Given the description of an element on the screen output the (x, y) to click on. 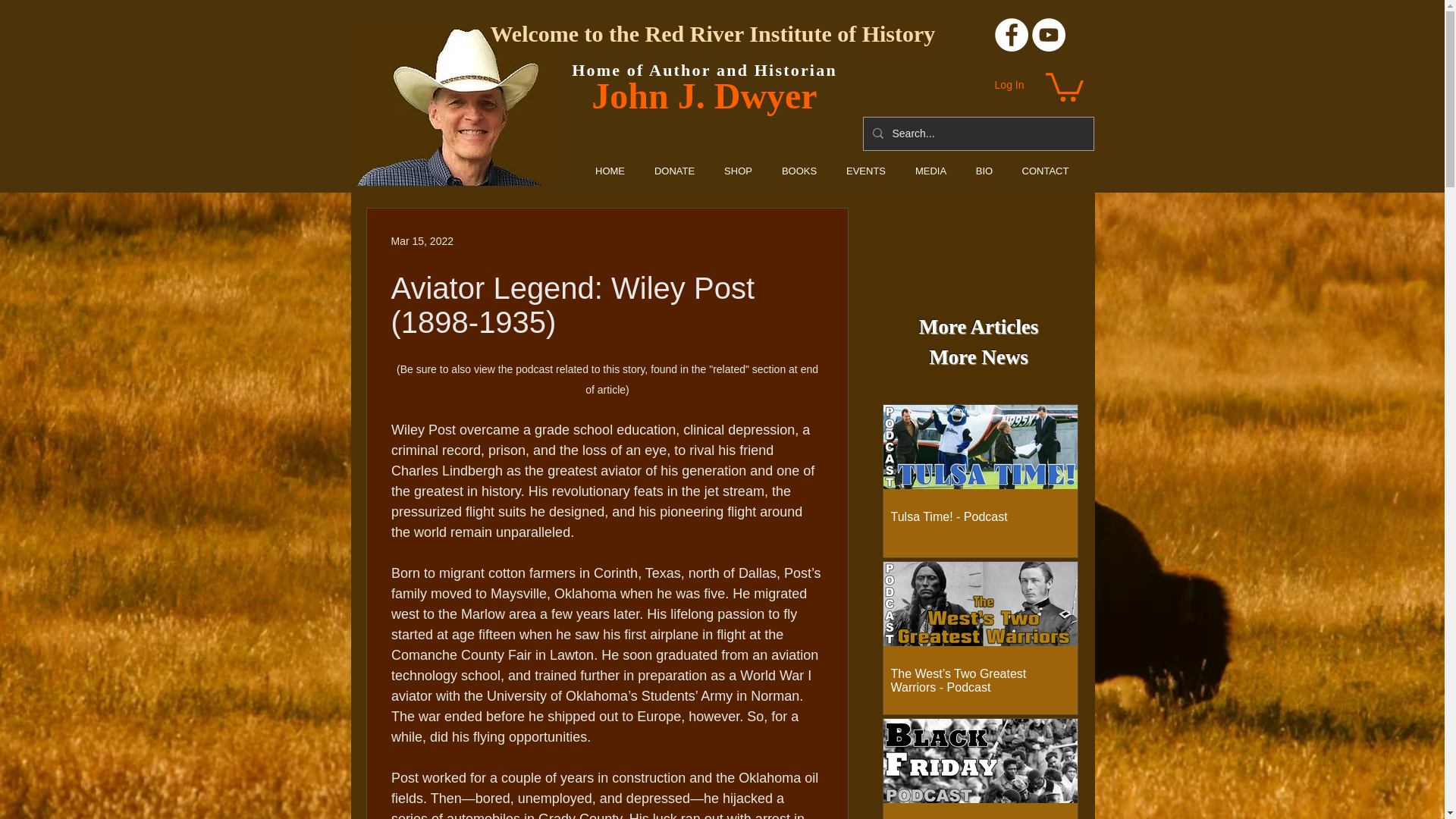
EVENTS (865, 170)
John J. Dwyer (703, 96)
BOOKS (799, 170)
Facebook Like (802, 251)
johnDwyerSiteTopper.jpg (451, 107)
Log In (1009, 84)
CONTACT (1045, 170)
DONATE (675, 170)
BIO (983, 170)
HOME (610, 170)
Mar 15, 2022 (422, 241)
SHOP (738, 170)
